Given the description of an element on the screen output the (x, y) to click on. 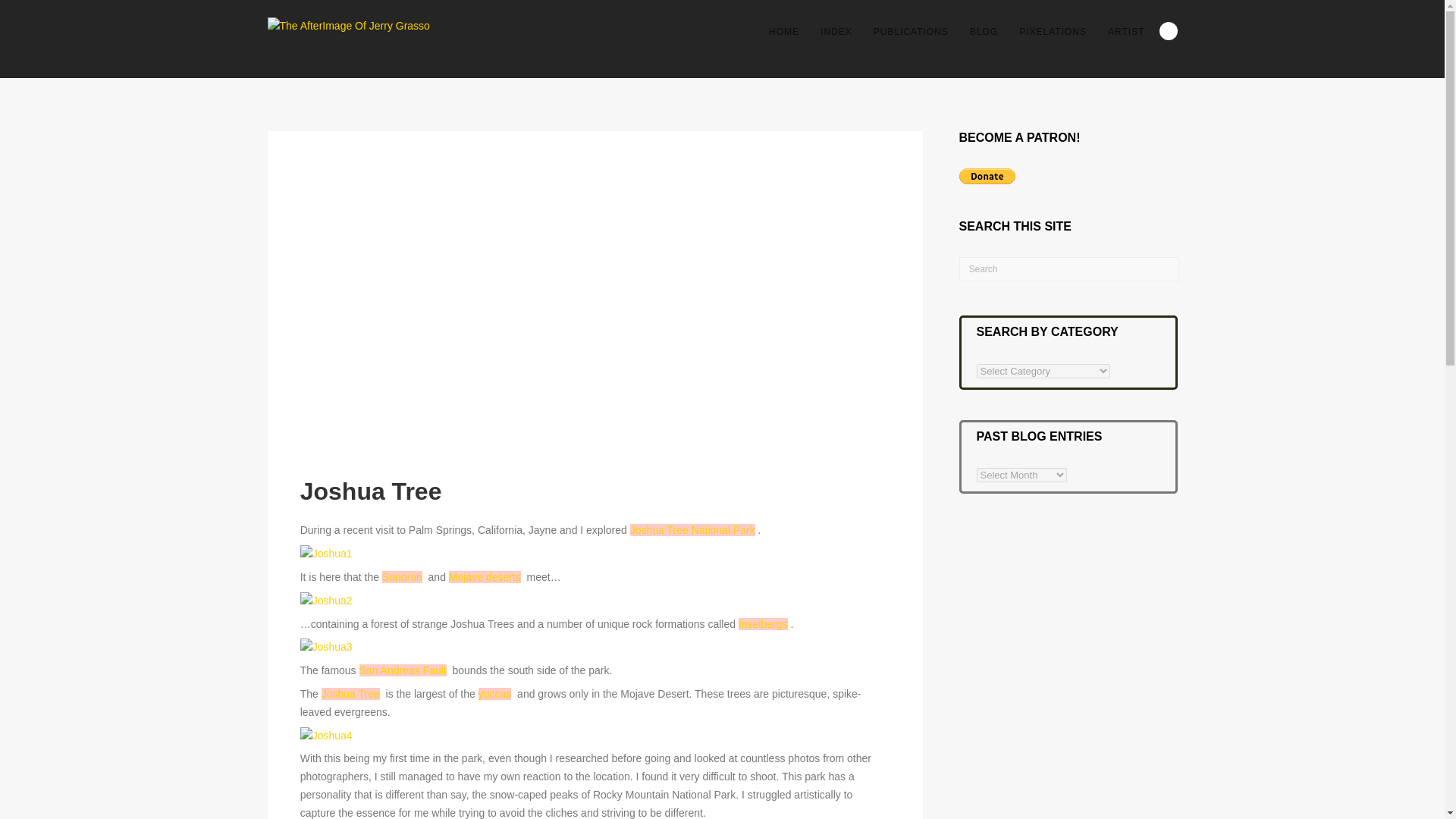
Joshua1 (325, 553)
INDEX (836, 31)
PIXELATIONS (1053, 31)
Joshua4 (325, 735)
ARTIST (1125, 31)
Joshua3 (325, 646)
Sonoran (401, 576)
Joshua Tree National Park (692, 530)
yuccas (495, 693)
Mojave deserts (484, 576)
San Andreas Fault (402, 670)
Joshua Tree (350, 693)
HOME (783, 31)
Joshua2 (325, 600)
PUBLICATIONS (911, 31)
